Given the description of an element on the screen output the (x, y) to click on. 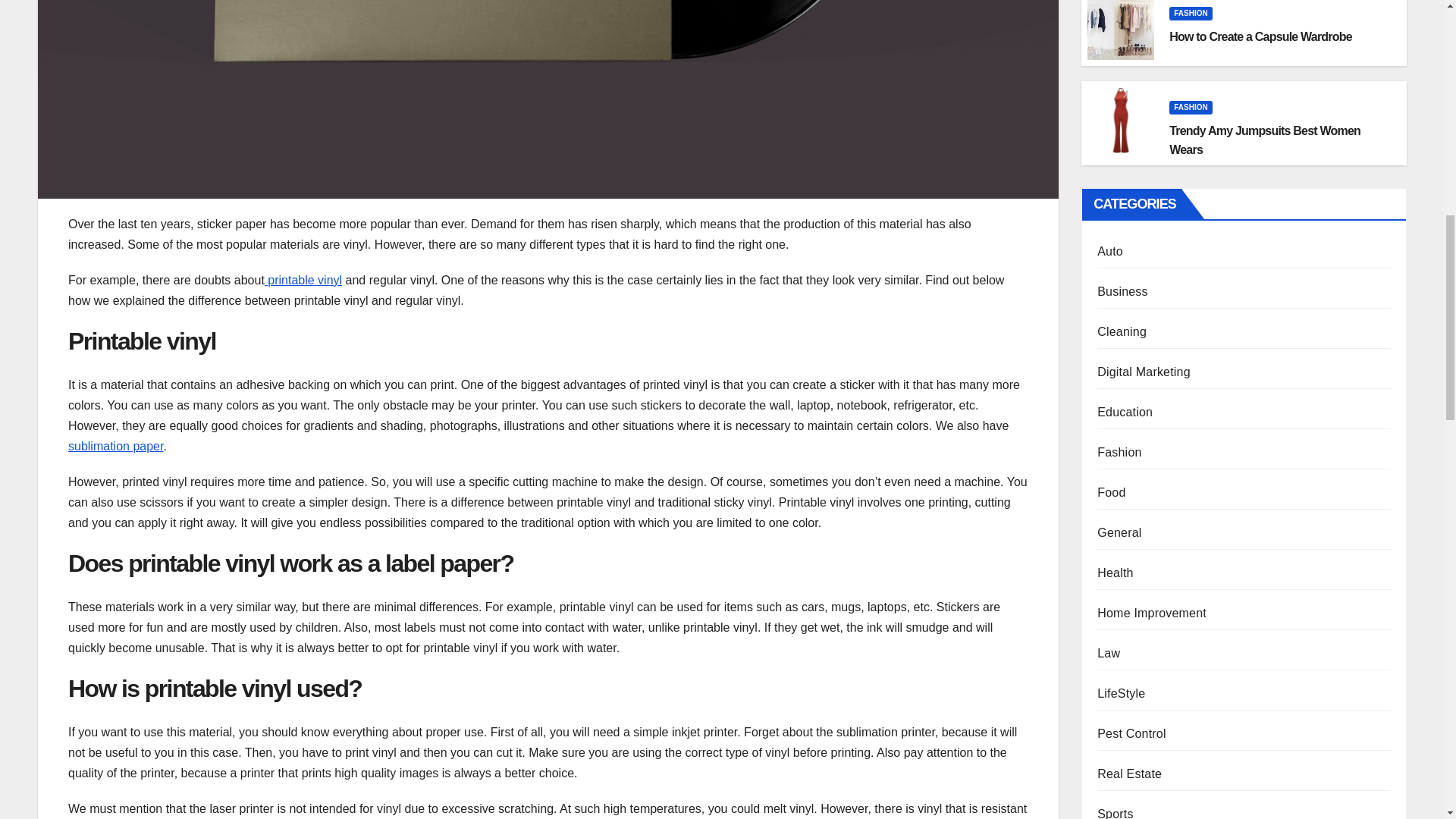
sublimation paper (115, 445)
printable vinyl (303, 279)
